Given the description of an element on the screen output the (x, y) to click on. 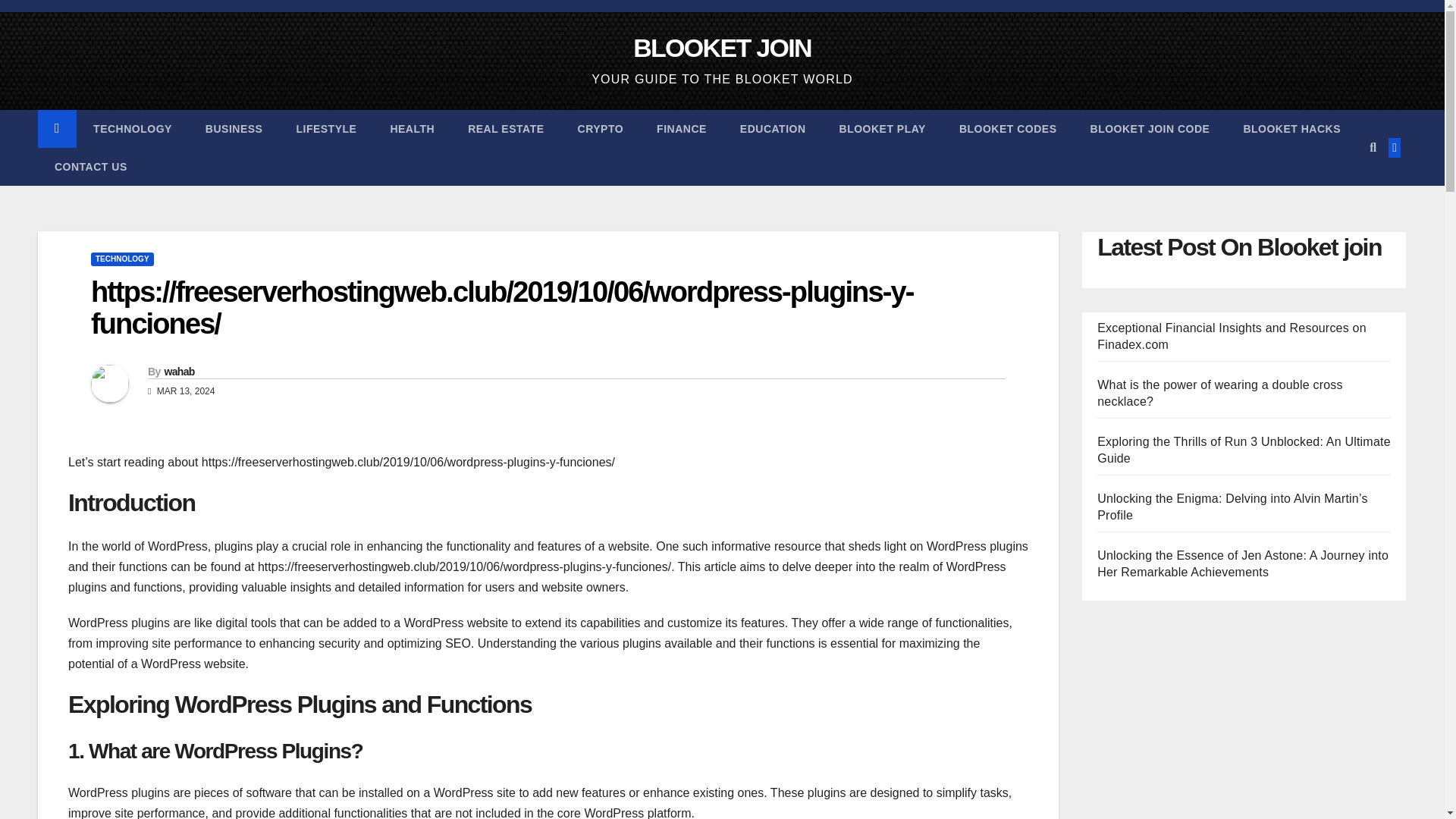
BLOOKET HACKS (1290, 128)
Business (234, 128)
EDUCATION (772, 128)
BLOOKET JOIN (721, 47)
wahab (178, 371)
REAL ESTATE (505, 128)
BUSINESS (234, 128)
TECHNOLOGY (133, 128)
LIFESTYLE (325, 128)
Health (411, 128)
